Given the description of an element on the screen output the (x, y) to click on. 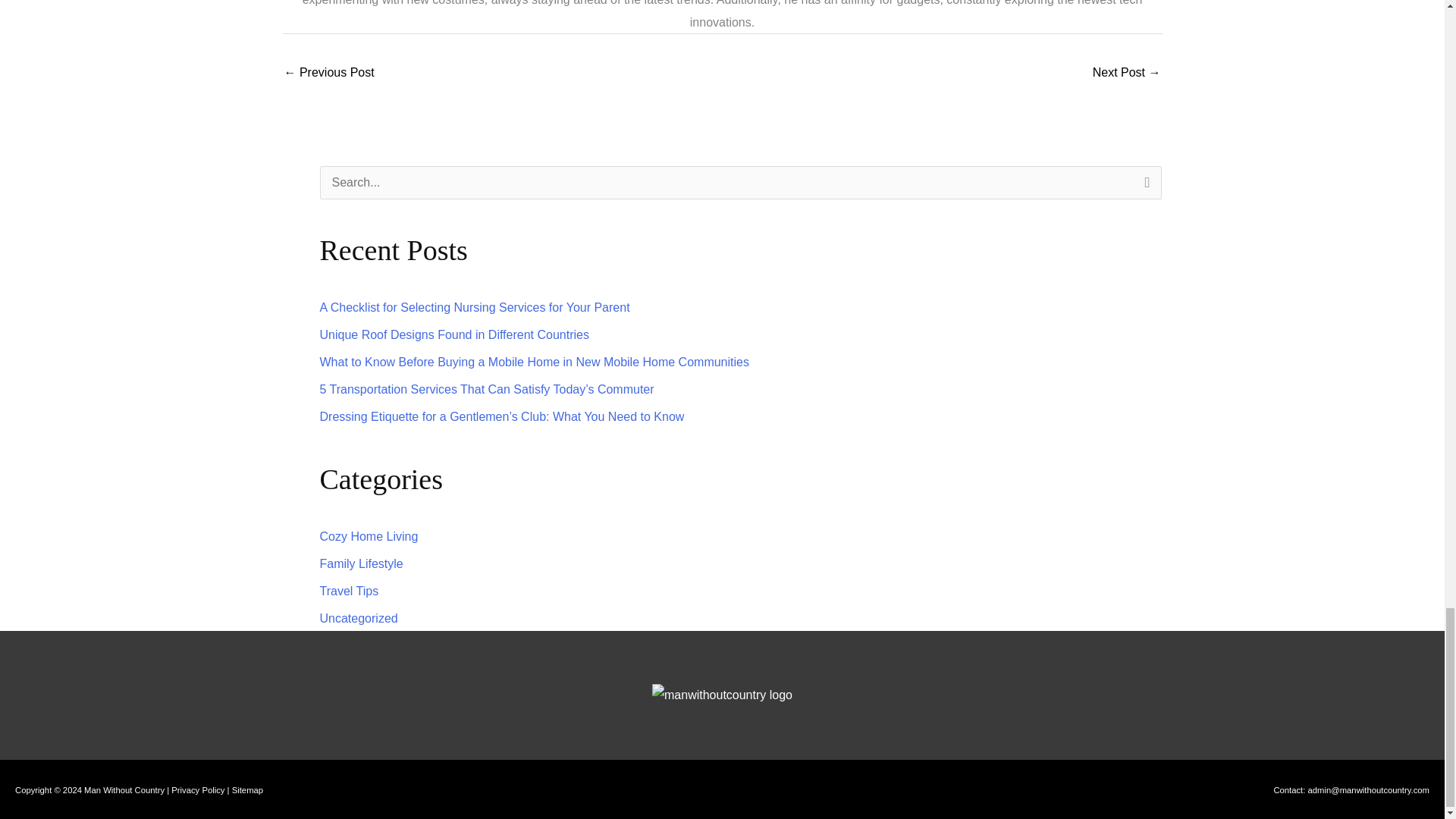
Top Three American States to Visit This Summer (328, 73)
Travel Tips (349, 590)
Unique Roof Designs Found in Different Countries (454, 334)
Cozy Home Living (369, 535)
Sitemap (247, 789)
Privacy Policy (197, 789)
Family Lifestyle (361, 563)
Uncategorized (358, 617)
Making the Most Out of Luxury Car Long Drives (1126, 73)
A Checklist for Selecting Nursing Services for Your Parent (475, 307)
